Given the description of an element on the screen output the (x, y) to click on. 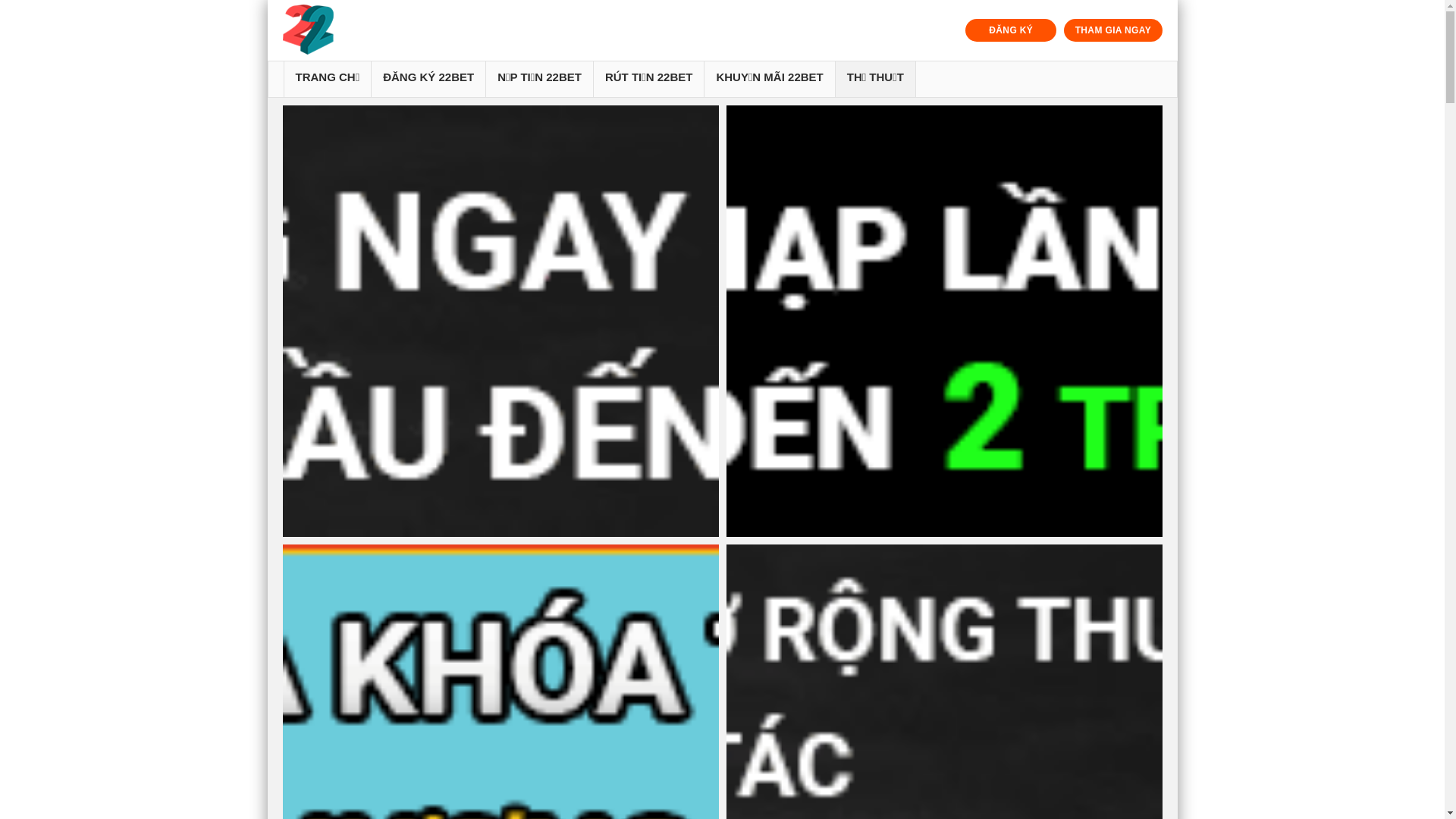
d9bet Element type: hover (500, 320)
Mot88 Element type: hover (944, 320)
THAM GIA NGAY Element type: text (1112, 29)
